Given the description of an element on the screen output the (x, y) to click on. 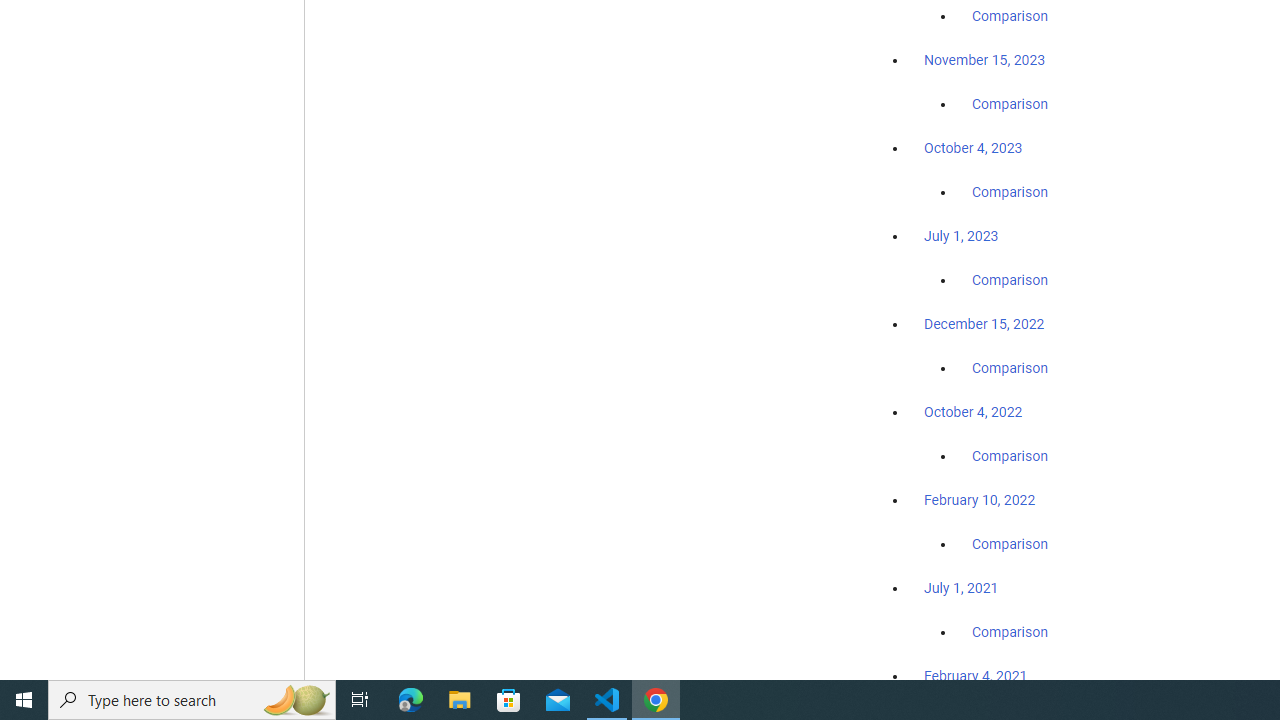
November 15, 2023 (984, 60)
December 15, 2022 (984, 323)
October 4, 2022 (973, 412)
Comparison (1009, 631)
February 4, 2021 (975, 675)
July 1, 2021 (961, 587)
July 1, 2023 (961, 236)
October 4, 2023 (973, 148)
February 10, 2022 (979, 500)
